Given the description of an element on the screen output the (x, y) to click on. 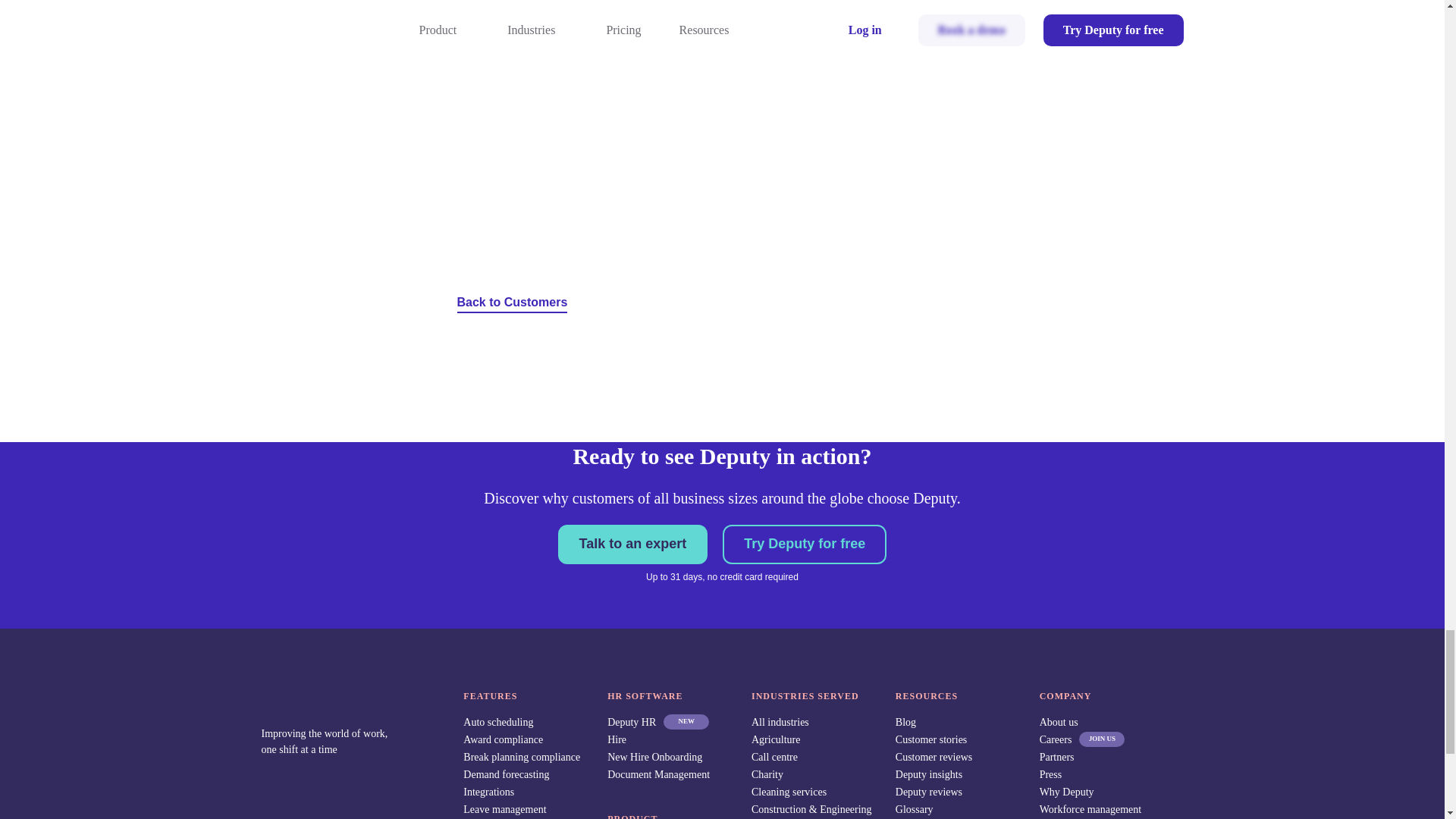
Award compliance (503, 739)
Try Deputy for free (804, 544)
Back to Customers (512, 291)
Break planning compliance (521, 756)
Auto scheduling (497, 722)
Talk to an expert (632, 544)
